Given the description of an element on the screen output the (x, y) to click on. 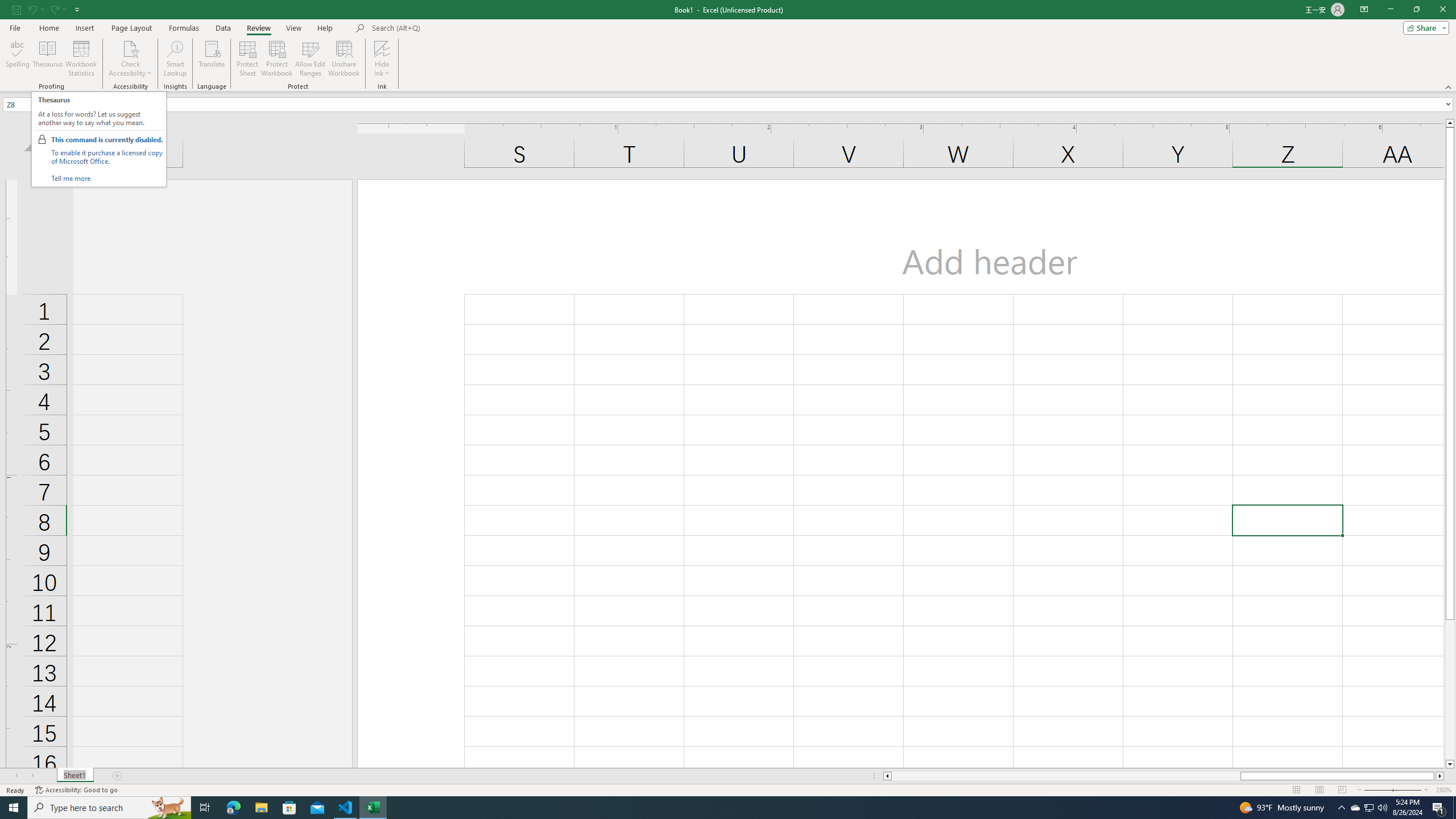
Spelling... (17, 58)
Workbook Statistics (81, 58)
